Given the description of an element on the screen output the (x, y) to click on. 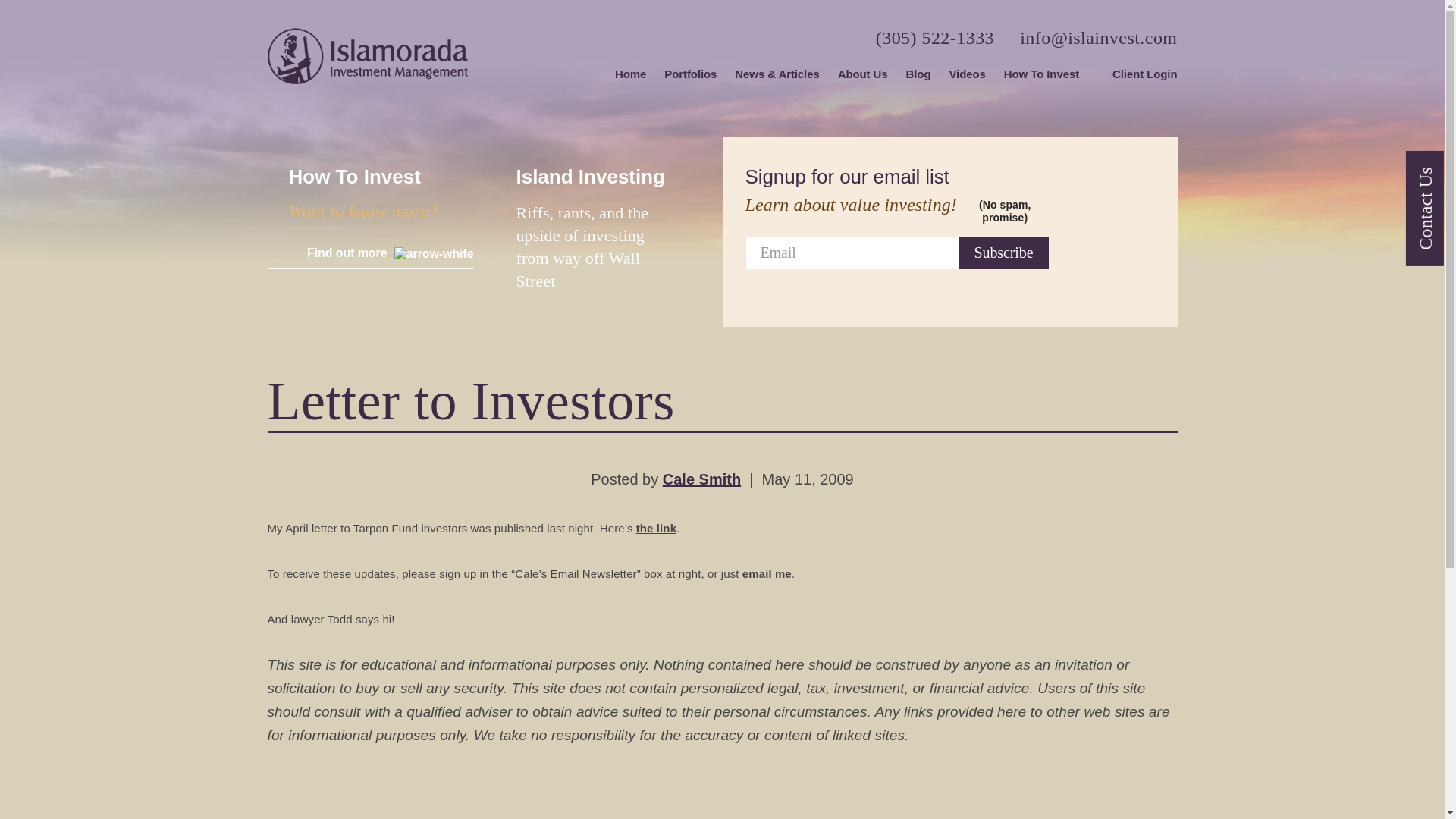
Home (630, 74)
Find out more (380, 257)
anchor (608, 231)
About Us (863, 74)
email me (767, 573)
Subscribe (1003, 252)
Blog (918, 74)
Client Login (1136, 74)
Videos (967, 74)
How To Invest (1041, 74)
